Given the description of an element on the screen output the (x, y) to click on. 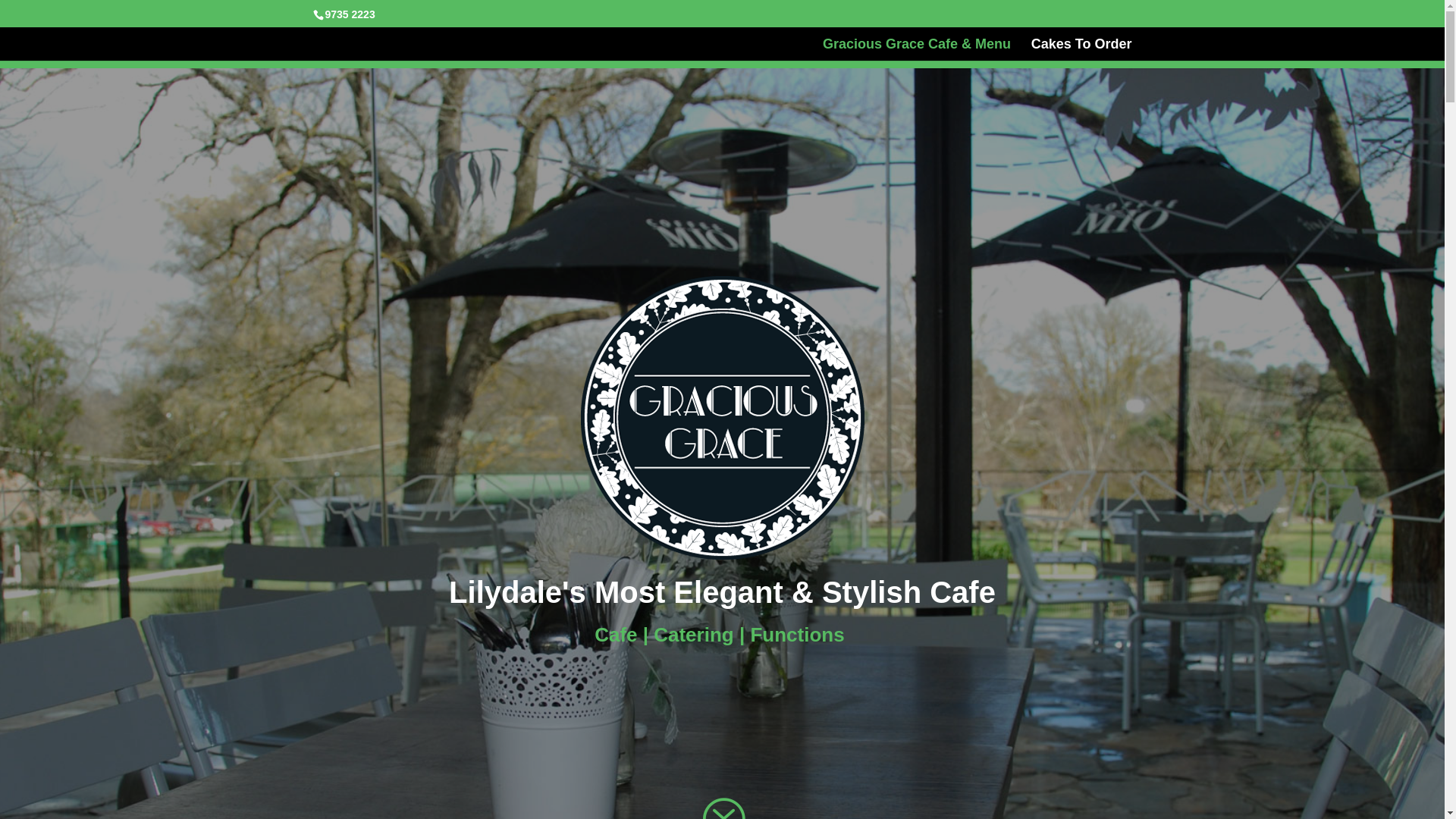
Gracious Grace Cafe & Menu Element type: text (916, 49)
Cakes To Order Element type: text (1081, 49)
